Given the description of an element on the screen output the (x, y) to click on. 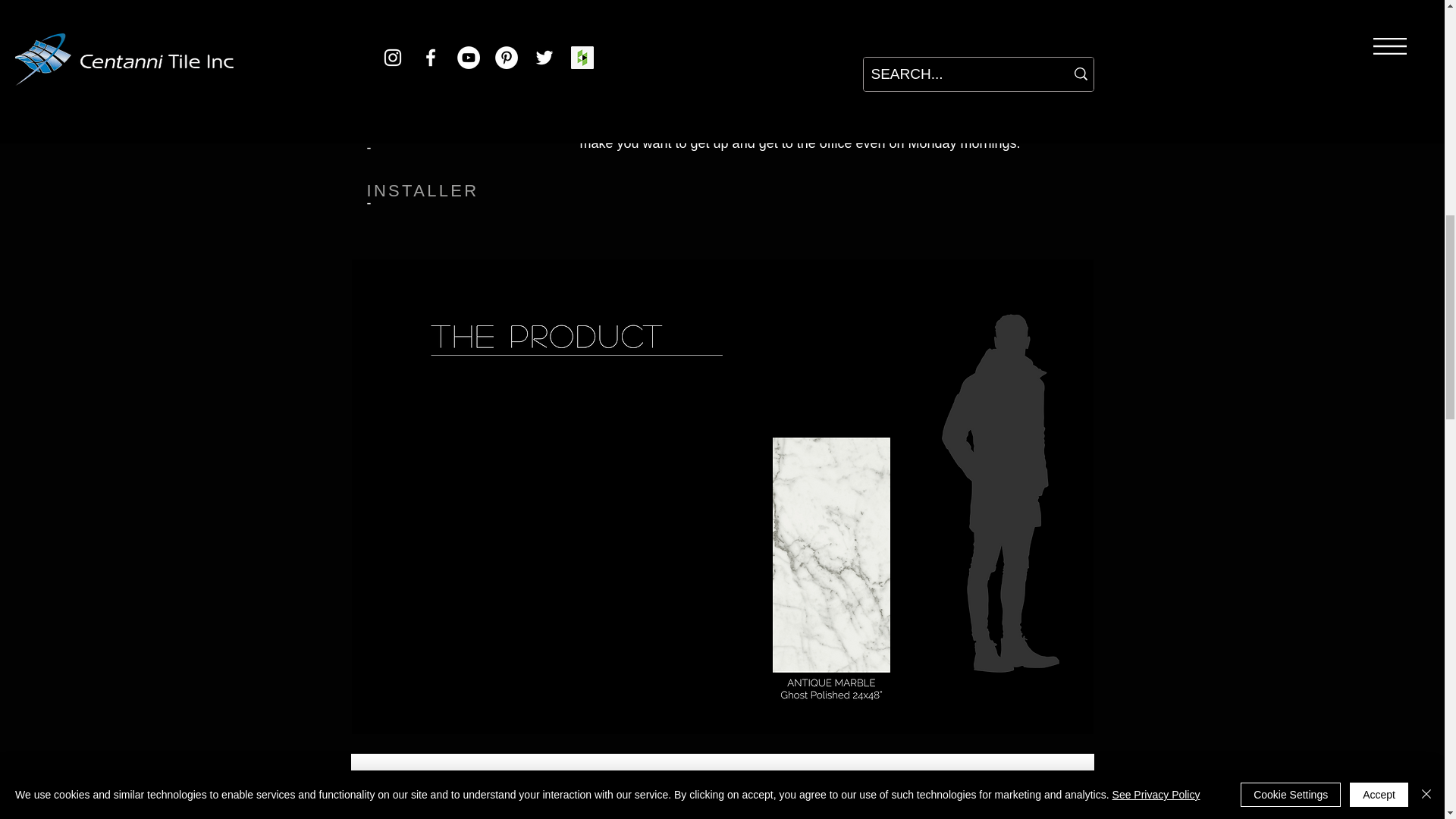
VIEW PRODUCT (422, 789)
